Given the description of an element on the screen output the (x, y) to click on. 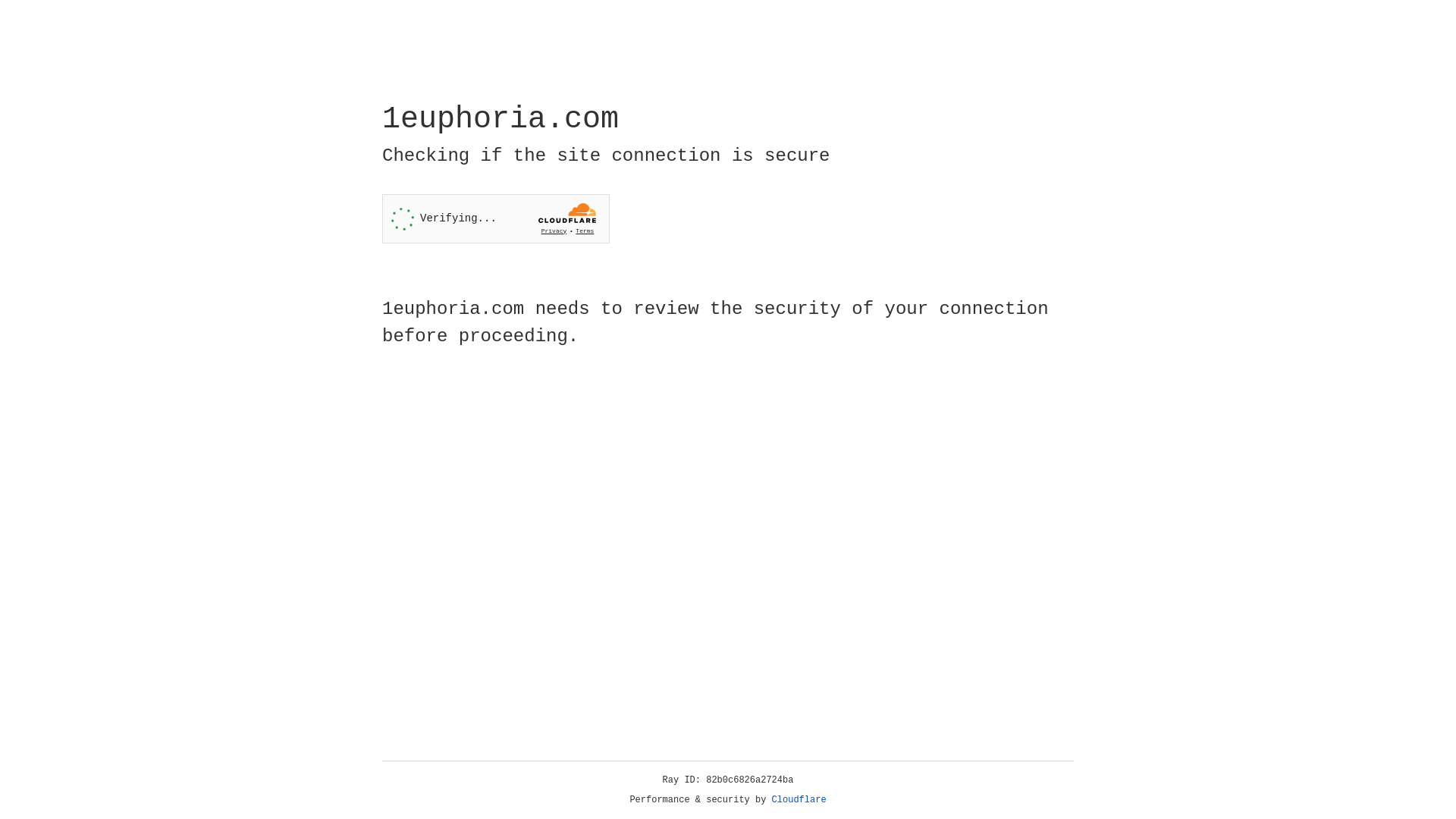
Widget containing a Cloudflare security challenge Element type: hover (495, 218)
Cloudflare Element type: text (798, 799)
